Given the description of an element on the screen output the (x, y) to click on. 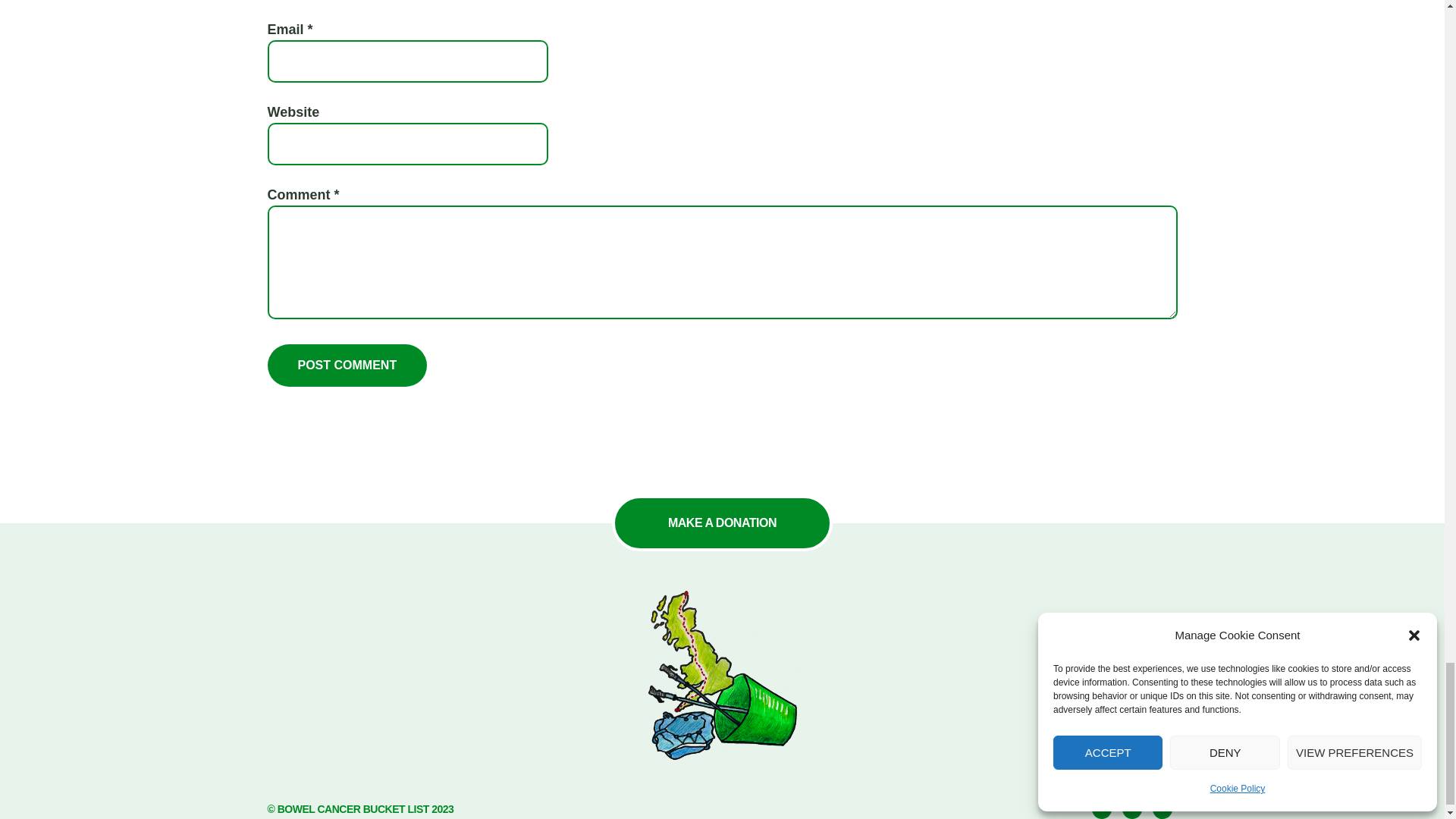
MAKE A DONATION (721, 522)
Post Comment (346, 364)
Post Comment (346, 364)
